Given the description of an element on the screen output the (x, y) to click on. 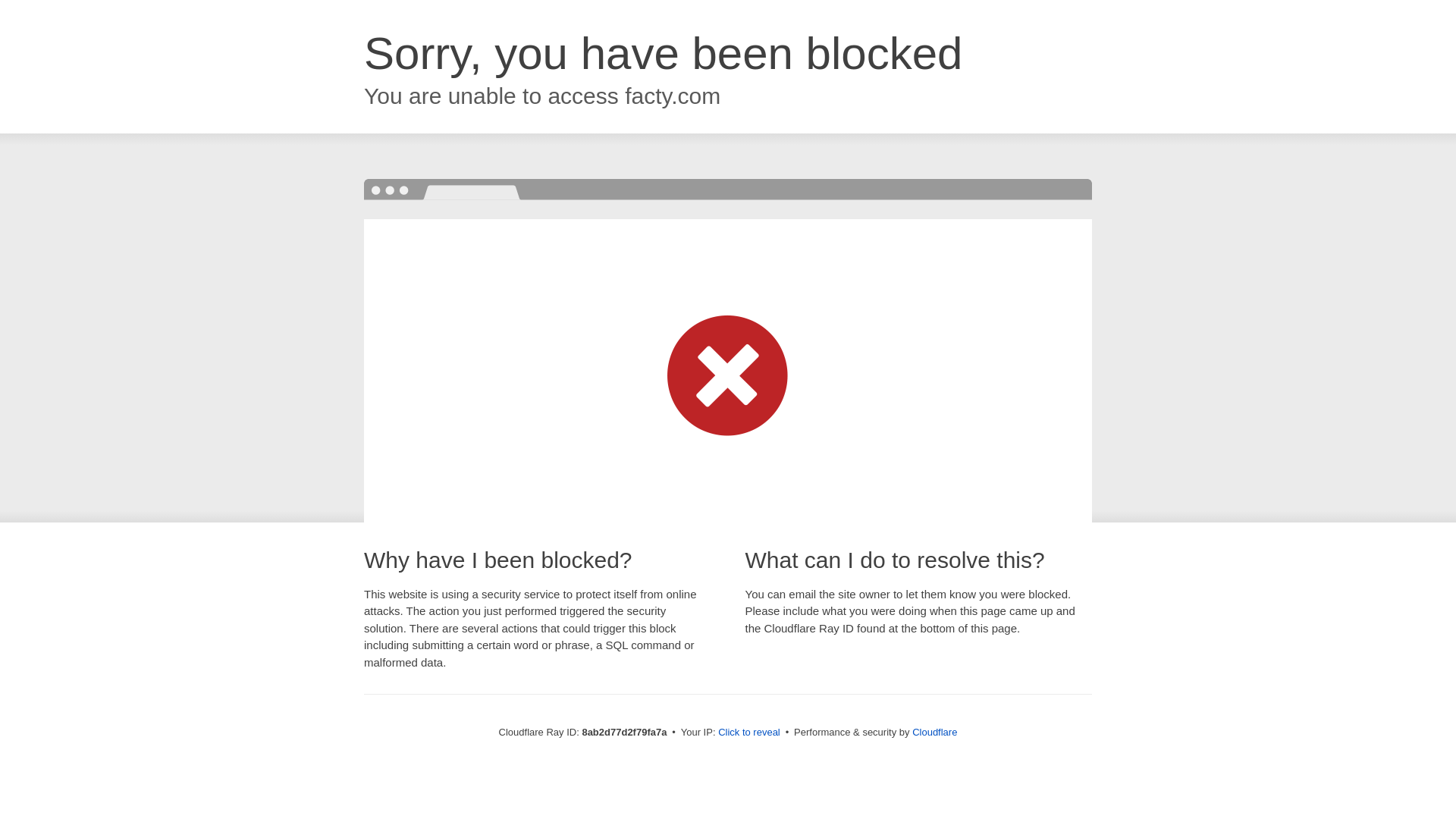
Cloudflare (934, 731)
Click to reveal (748, 732)
